Given the description of an element on the screen output the (x, y) to click on. 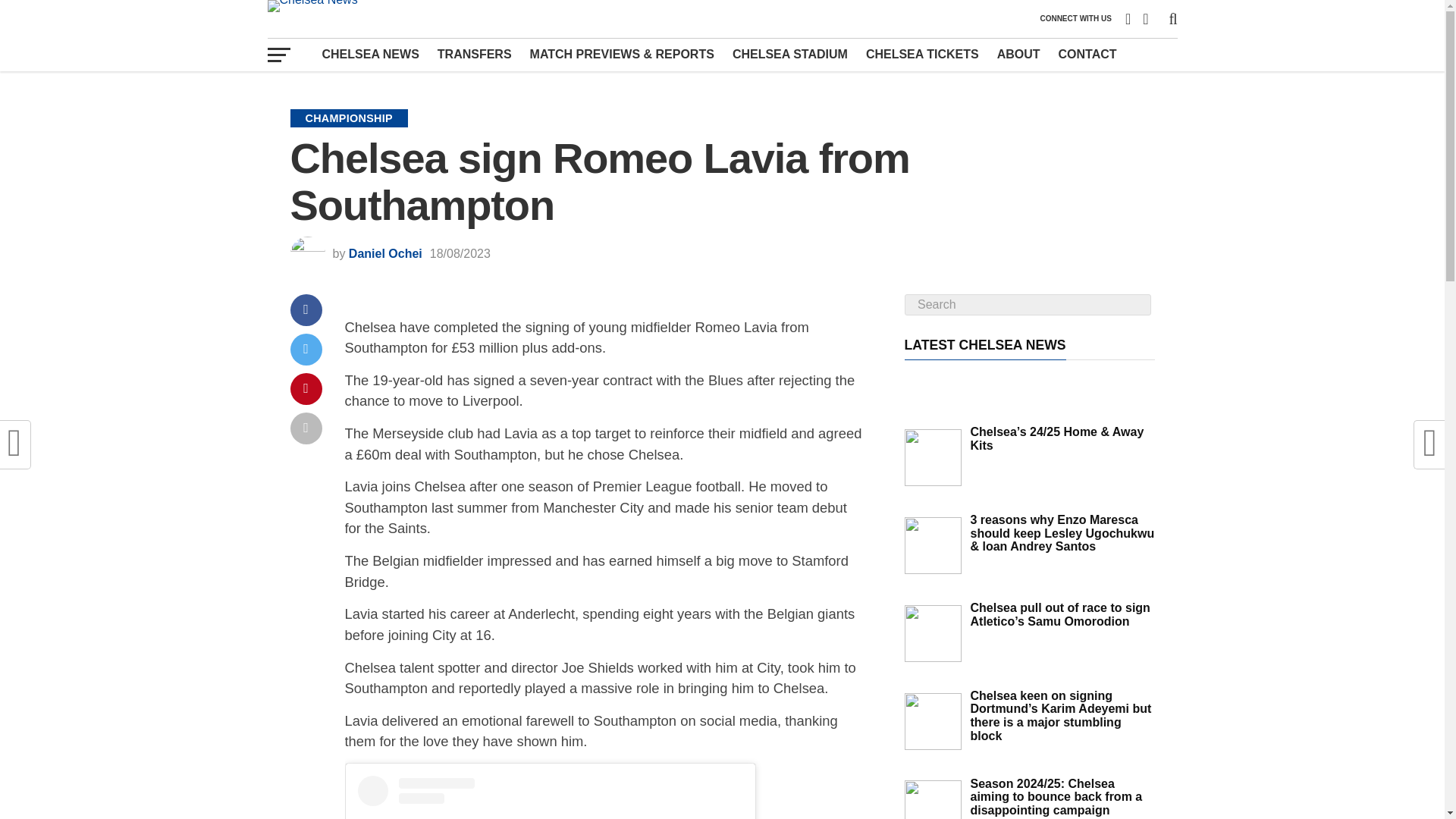
CHELSEA TICKETS (922, 54)
CHELSEA STADIUM (790, 54)
Posts by Daniel Ochei (385, 253)
ABOUT (1018, 54)
TRANSFERS (474, 54)
Daniel Ochei (385, 253)
CONTACT (1087, 54)
CHELSEA NEWS (370, 54)
Search (1027, 304)
